Given the description of an element on the screen output the (x, y) to click on. 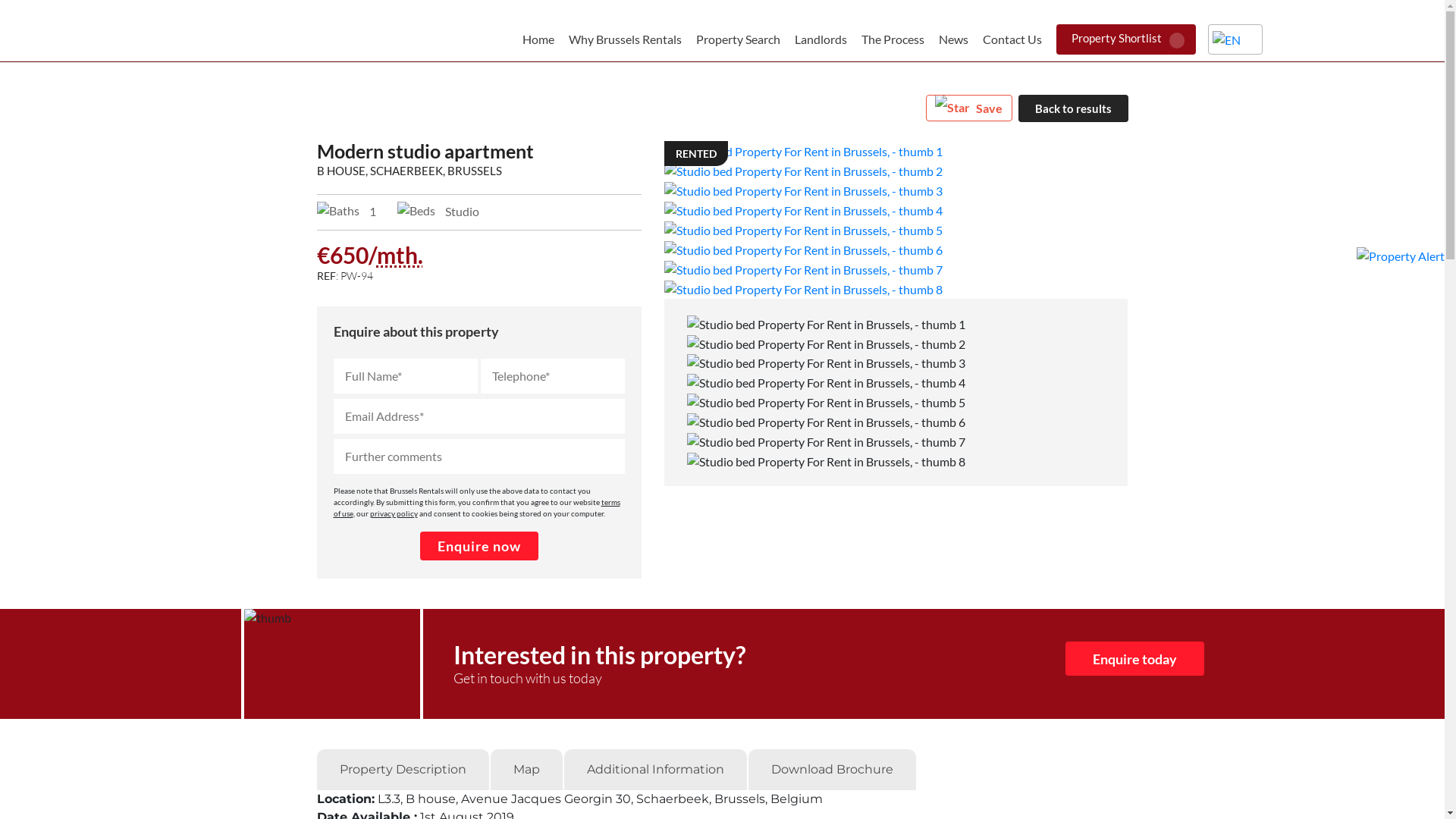
Save Element type: text (968, 107)
privacy policy Element type: text (393, 512)
Landlords Element type: text (820, 38)
Enquire today Element type: text (1133, 658)
Contact Us Element type: text (1011, 38)
terms of use Element type: text (476, 507)
Property Shortlist Element type: text (1125, 39)
Home Element type: text (538, 38)
Property Search Element type: text (738, 38)
Why Brussels Rentals Element type: text (624, 38)
Back to results Element type: text (1072, 108)
Enquire now Element type: text (479, 545)
Map Element type: text (525, 769)
News Element type: text (953, 38)
Additional Information Element type: text (655, 769)
Property Description Element type: text (402, 769)
Download Brochure Element type: text (831, 769)
The Process Element type: text (892, 38)
